Given the description of an element on the screen output the (x, y) to click on. 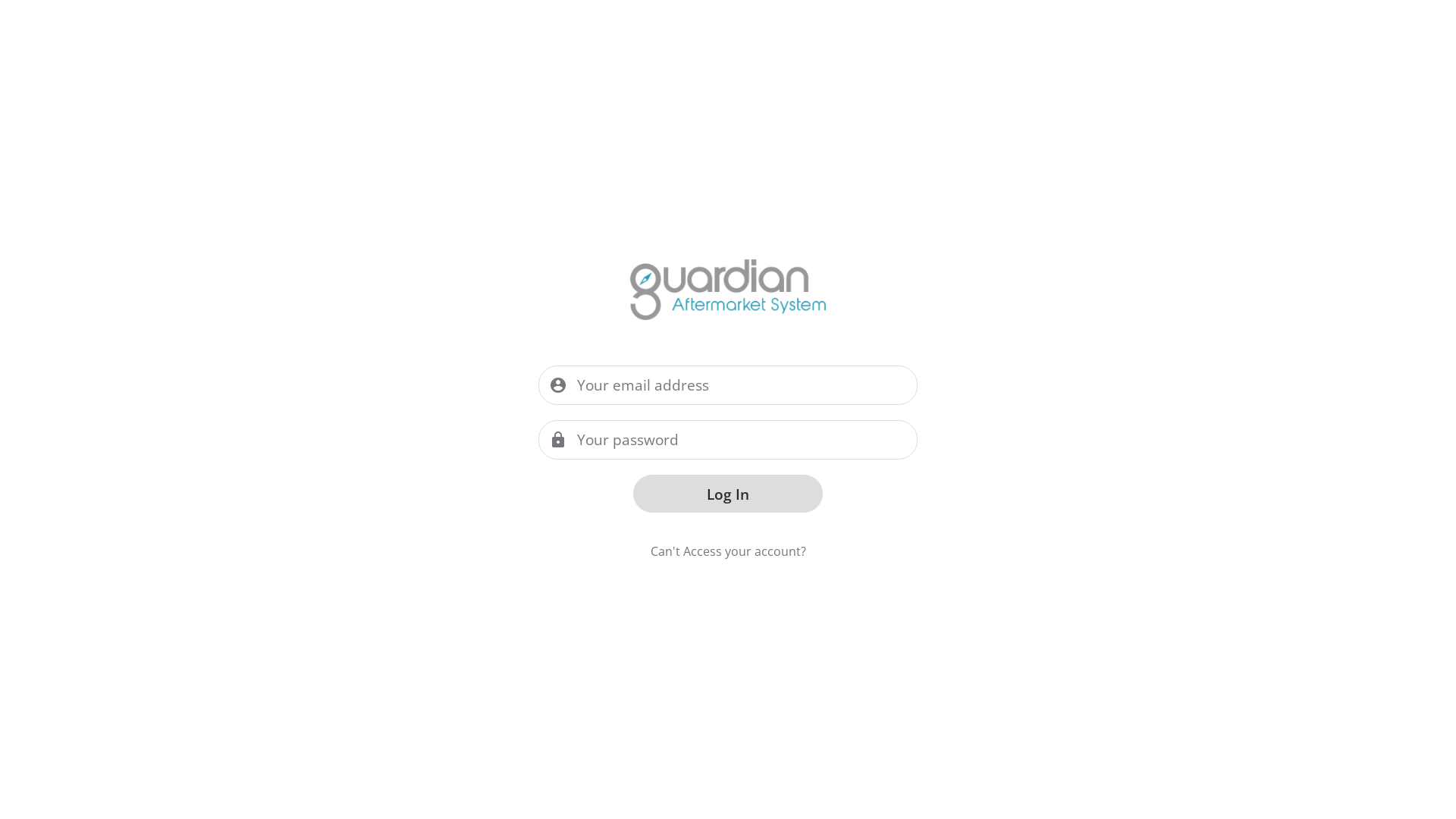
Can't Access your account? Element type: text (727, 550)
Log In Element type: text (727, 493)
